Given the description of an element on the screen output the (x, y) to click on. 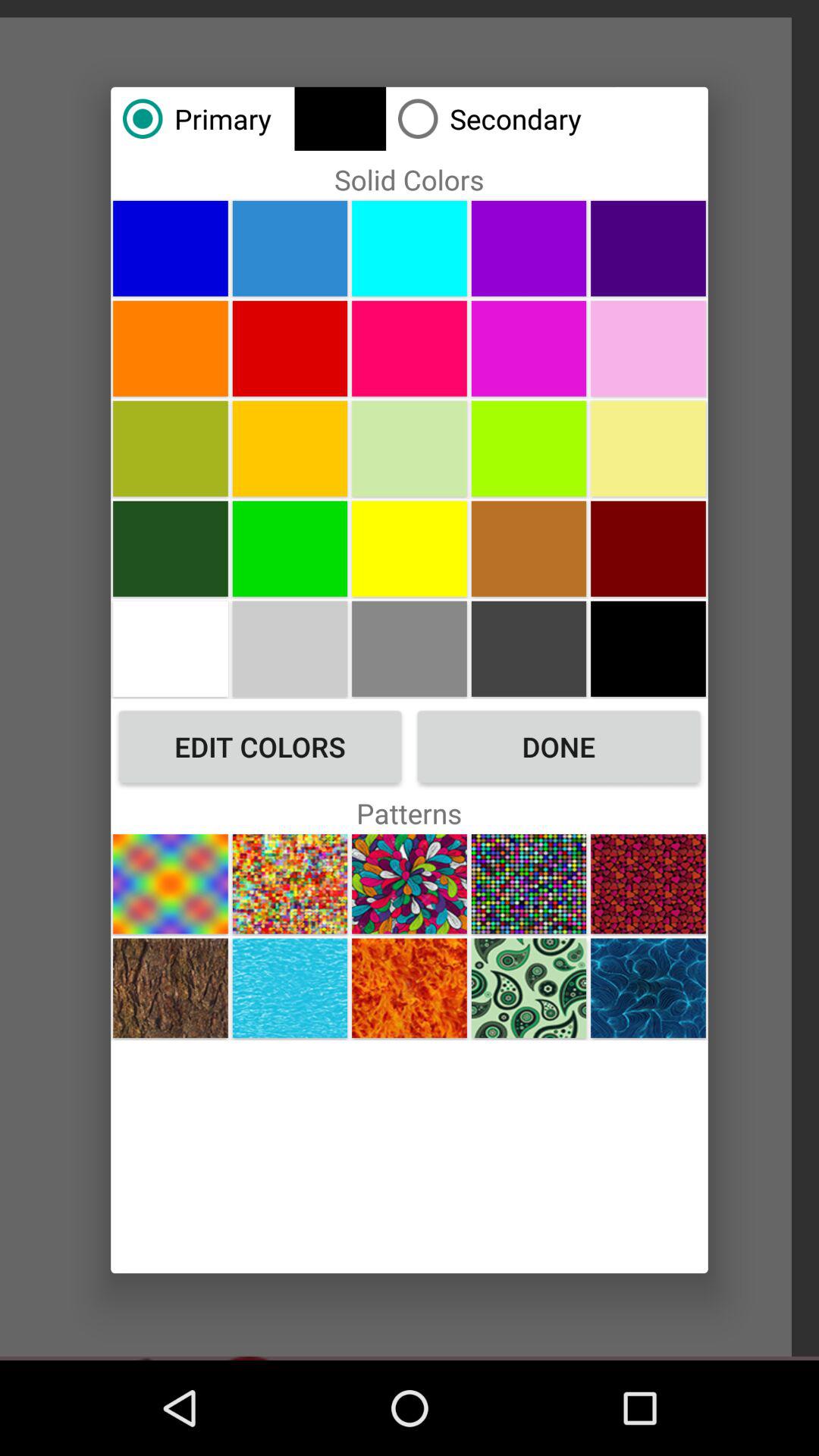
turn off the item above the patterns item (558, 746)
